Given the description of an element on the screen output the (x, y) to click on. 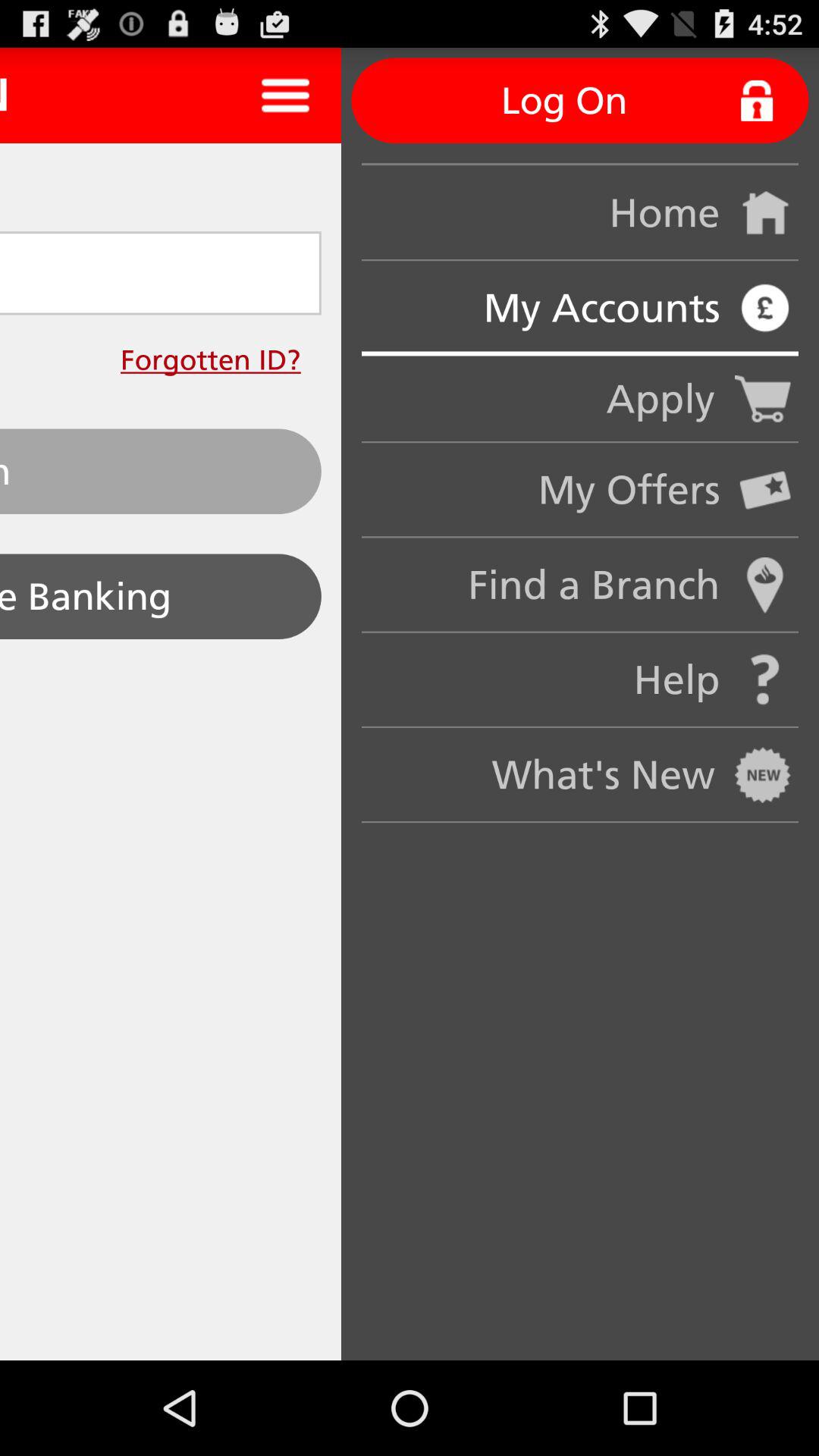
click the find a branch (765, 584)
click the more button (285, 95)
click on the symbol next to help (765, 679)
click on icon on the right side of my offers (765, 490)
click the log on button on the web page (580, 100)
click the icon on the right next to the button find a branch on the web page (765, 584)
